Given the description of an element on the screen output the (x, y) to click on. 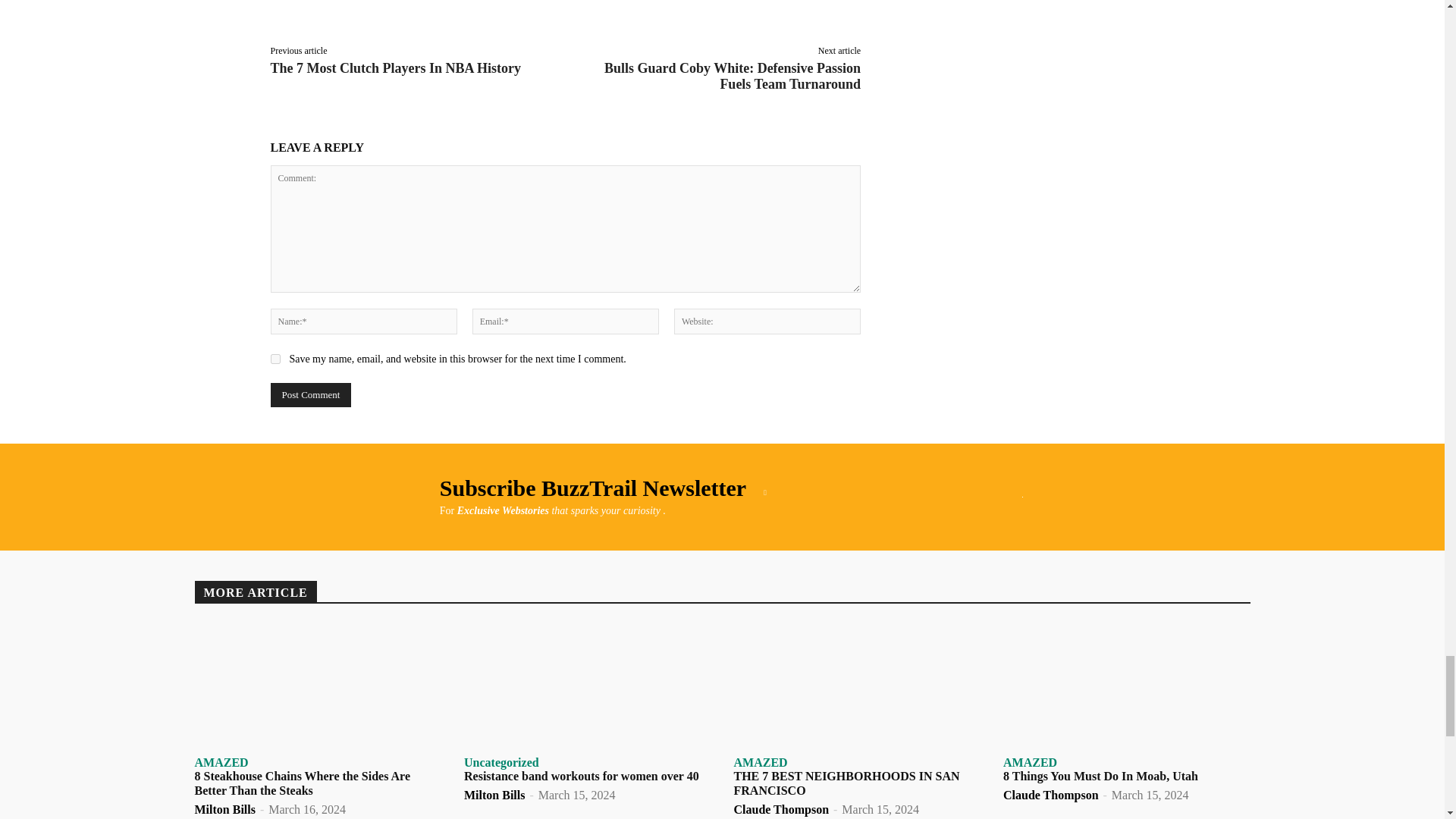
yes (274, 358)
Post Comment (309, 395)
